Given the description of an element on the screen output the (x, y) to click on. 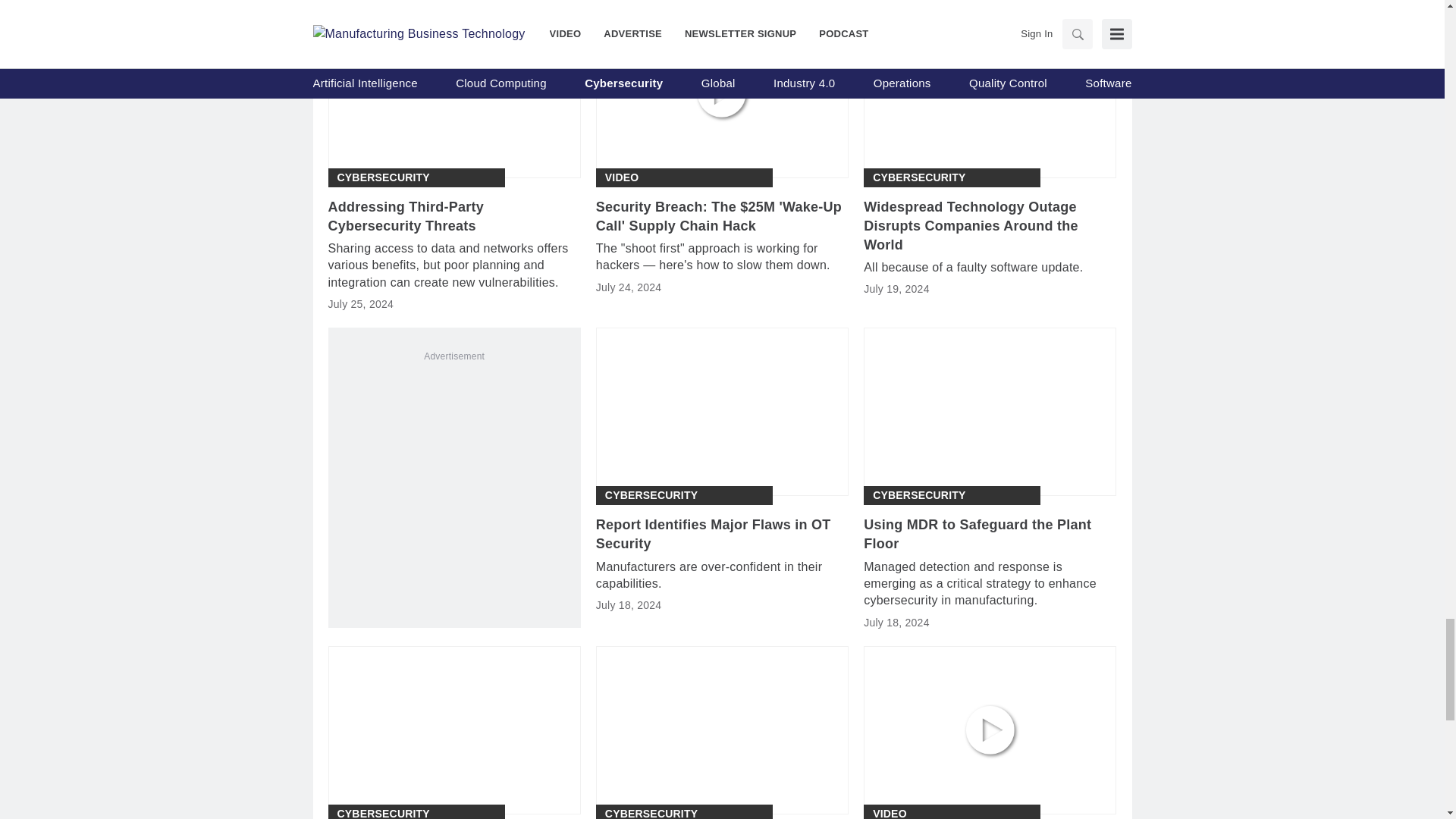
Cybersecurity (651, 495)
Cybersecurity (918, 177)
Video (622, 177)
Cybersecurity (382, 177)
